Given the description of an element on the screen output the (x, y) to click on. 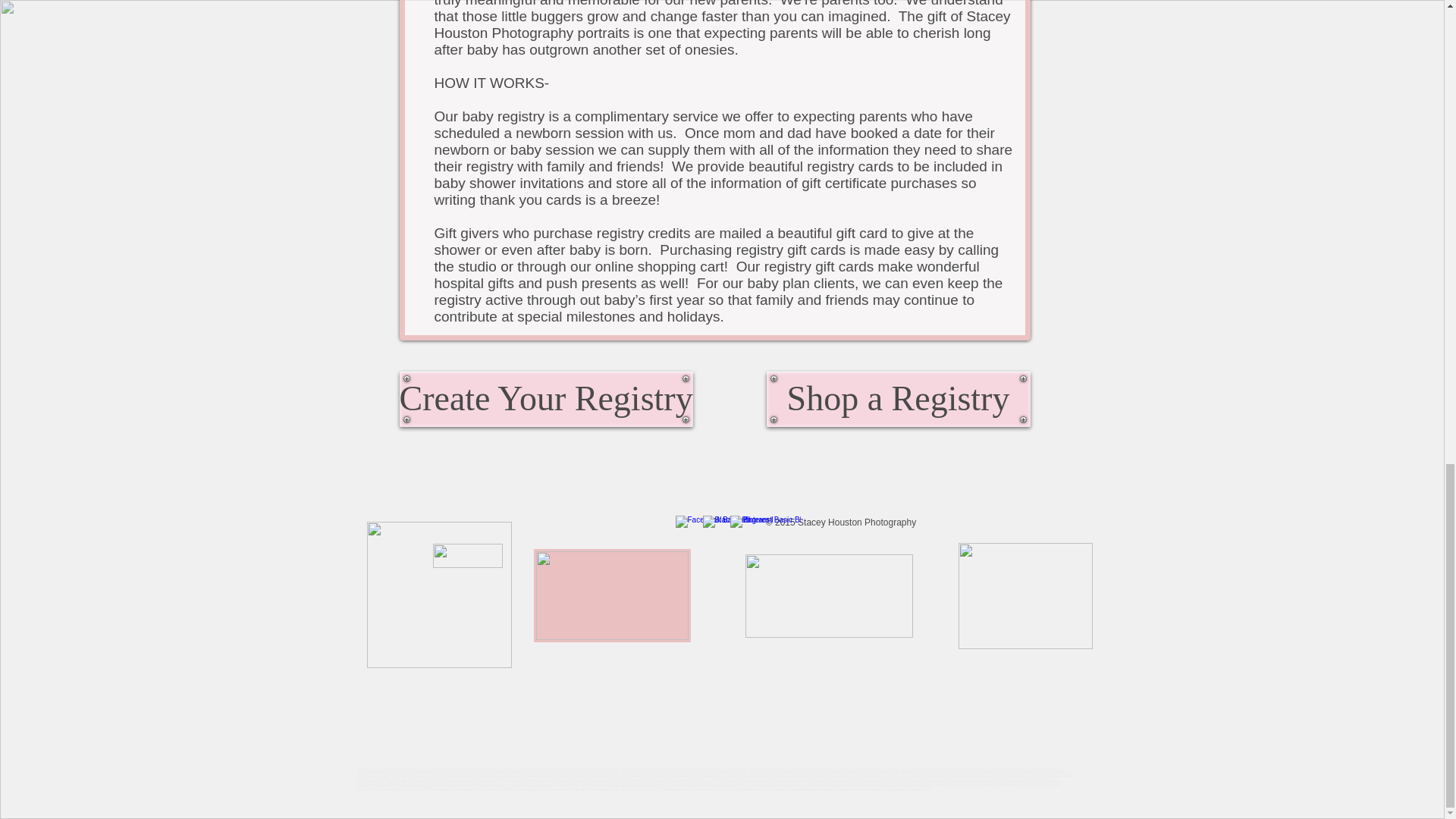
Create Your Registry (545, 398)
INP-png.png (828, 596)
ppa-logo.jpg (612, 595)
